Given the description of an element on the screen output the (x, y) to click on. 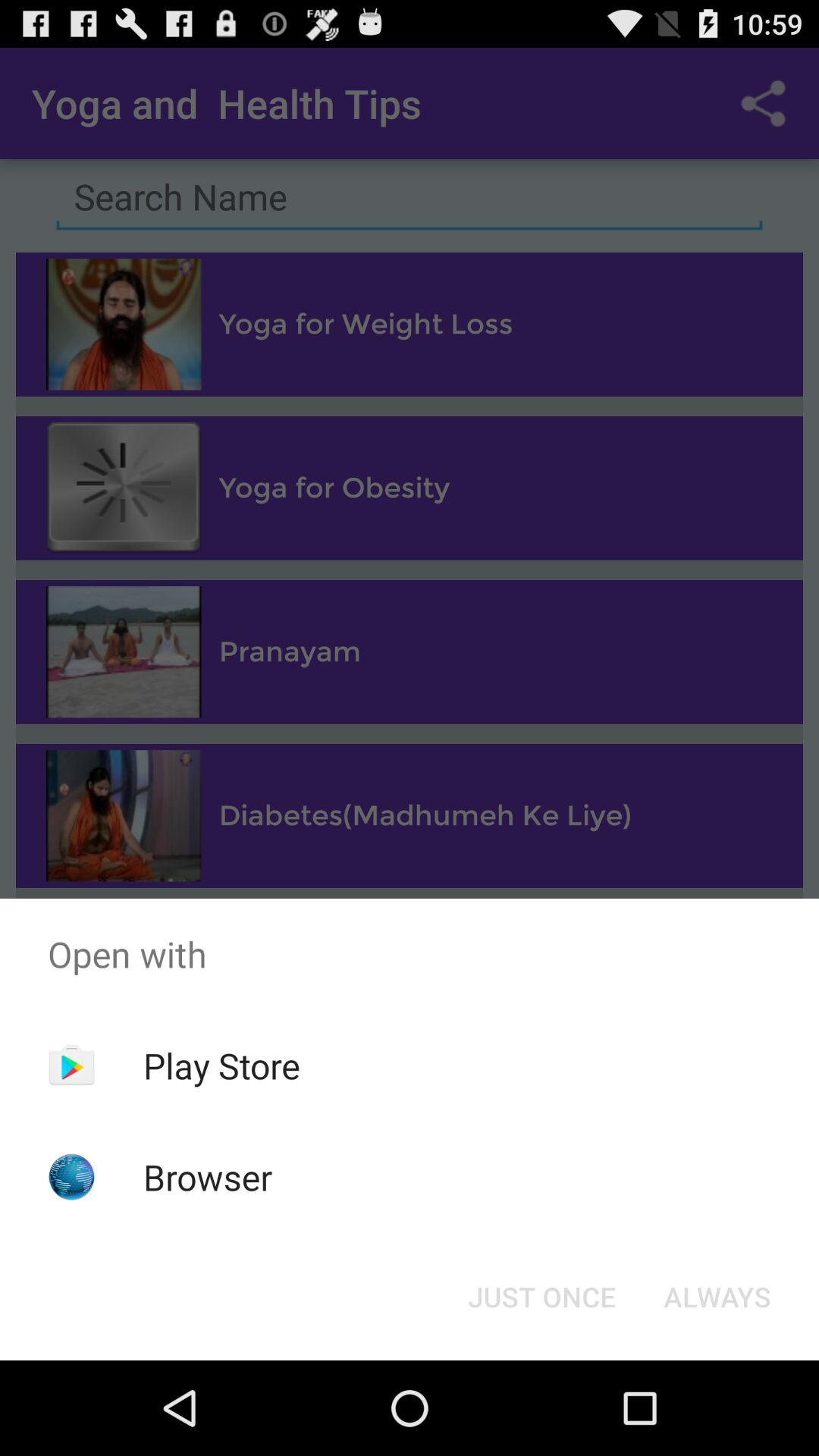
tap icon at the bottom (541, 1296)
